Given the description of an element on the screen output the (x, y) to click on. 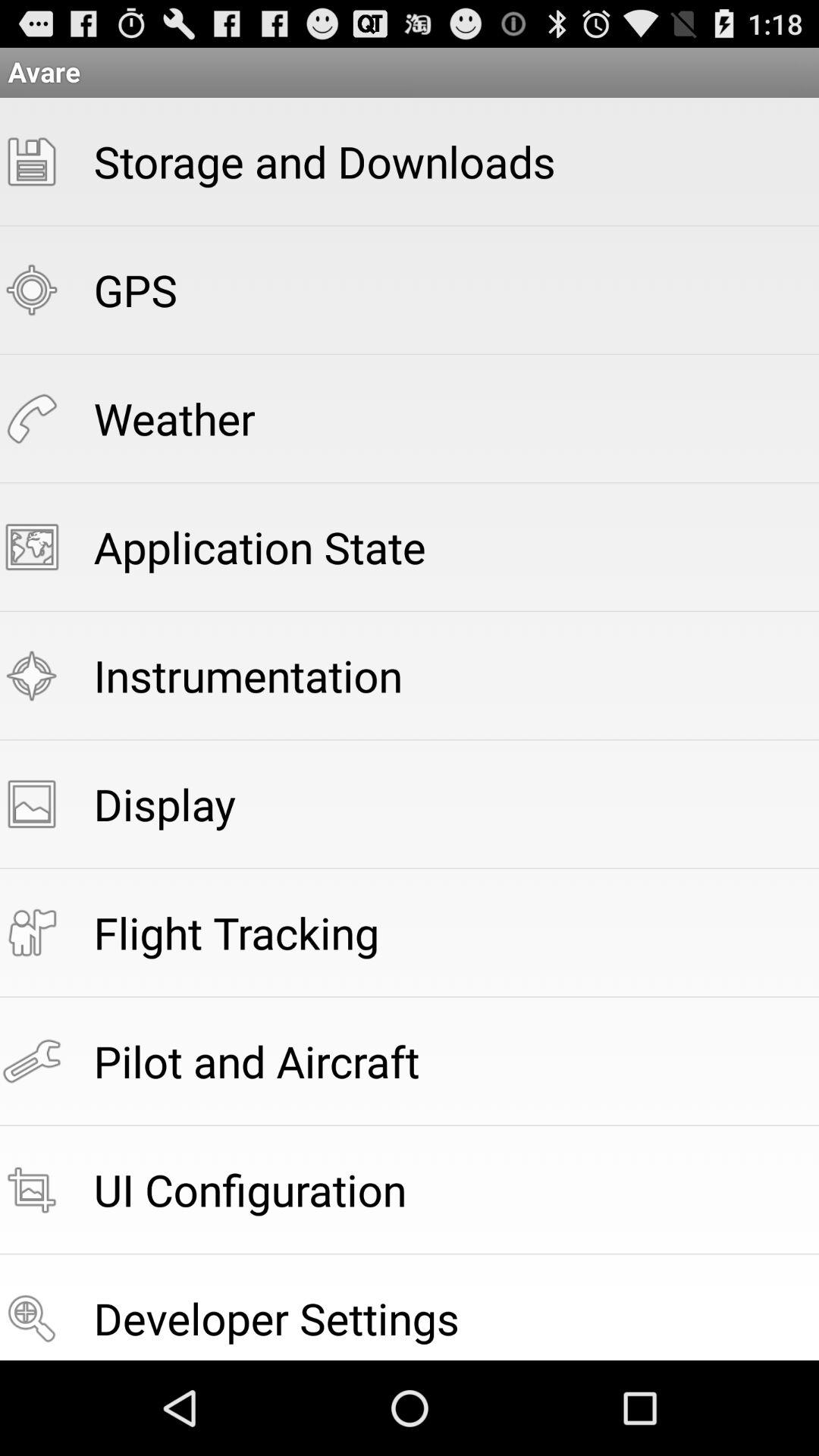
select the app above instrumentation icon (259, 546)
